Given the description of an element on the screen output the (x, y) to click on. 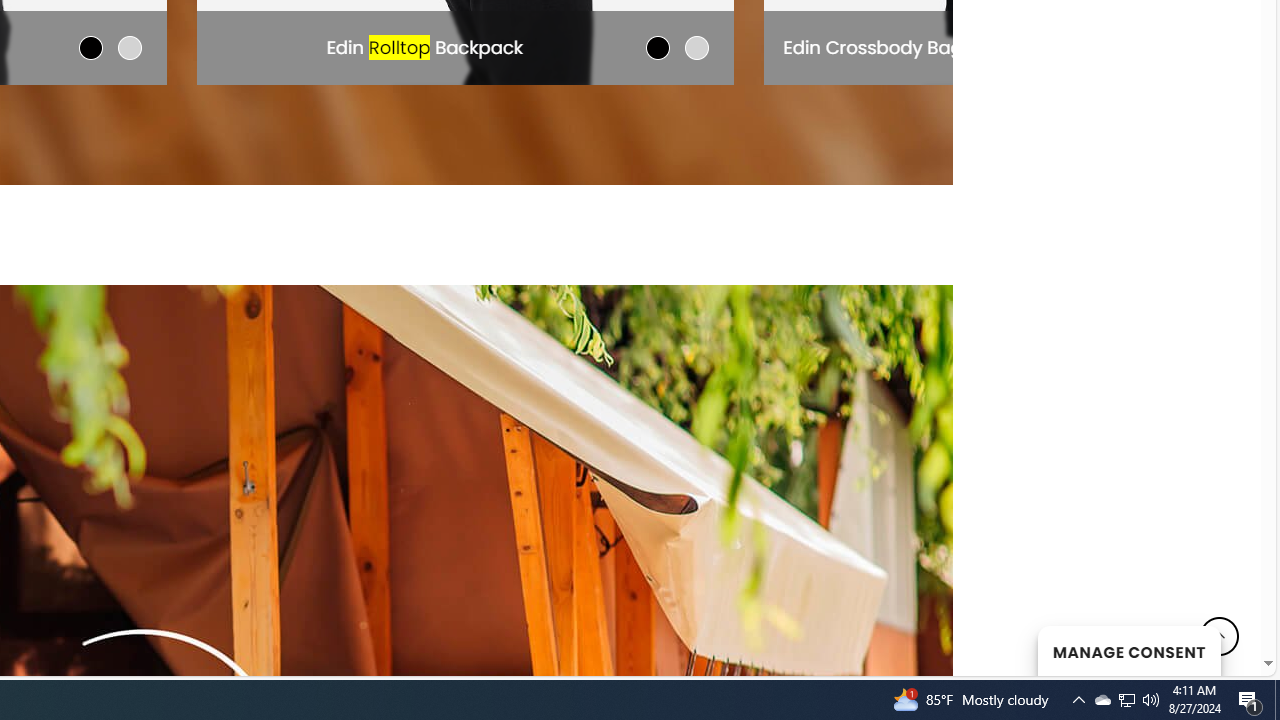
User Promoted Notification Area (1126, 699)
Notification Chevron (1078, 699)
Action Center, 1 new notification (1250, 699)
MANAGE CONSENT (1126, 699)
Q2790: 100% (1128, 650)
Show desktop (1151, 699)
